Given the description of an element on the screen output the (x, y) to click on. 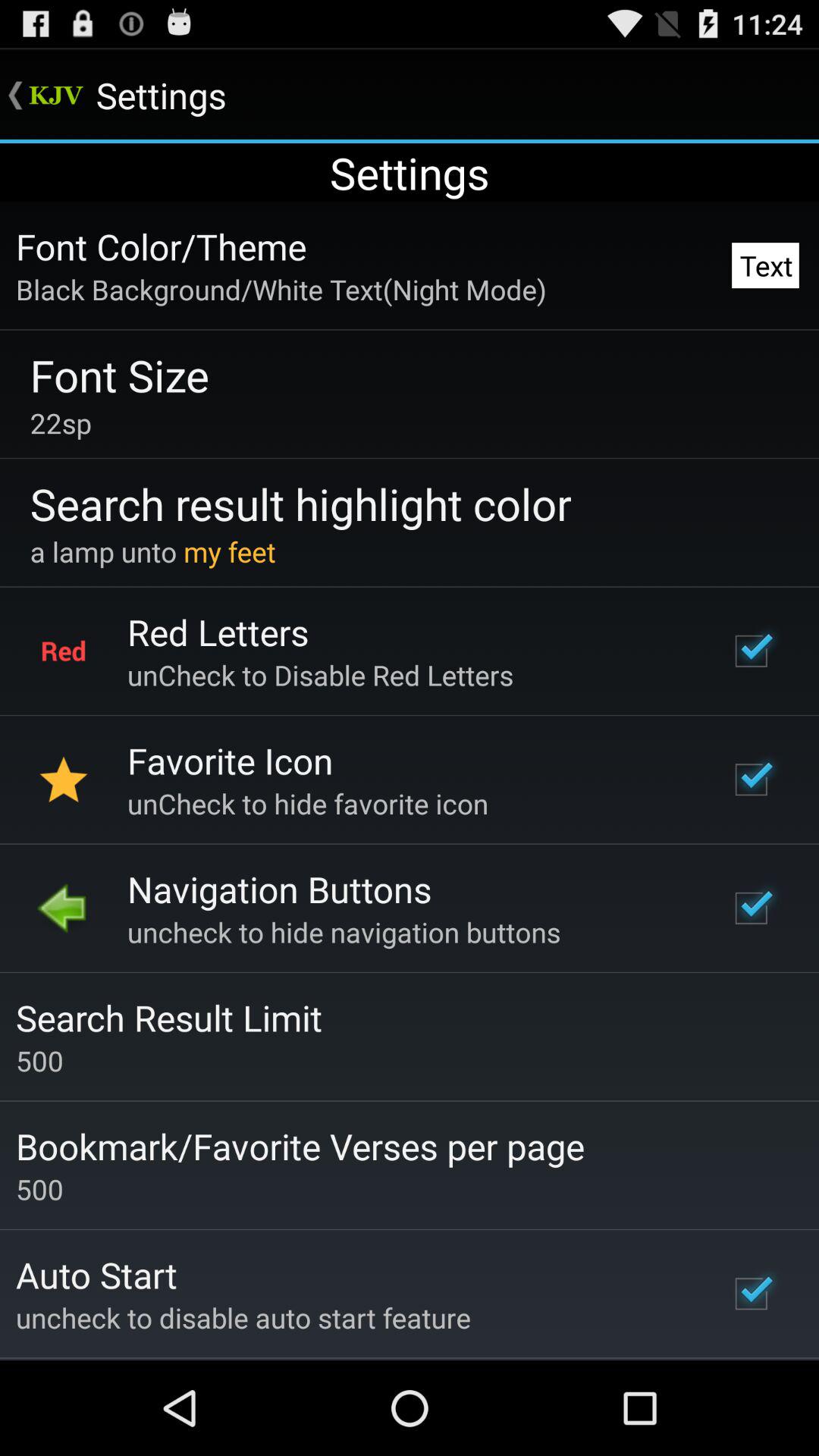
jump to the 22sp icon (60, 422)
